Given the description of an element on the screen output the (x, y) to click on. 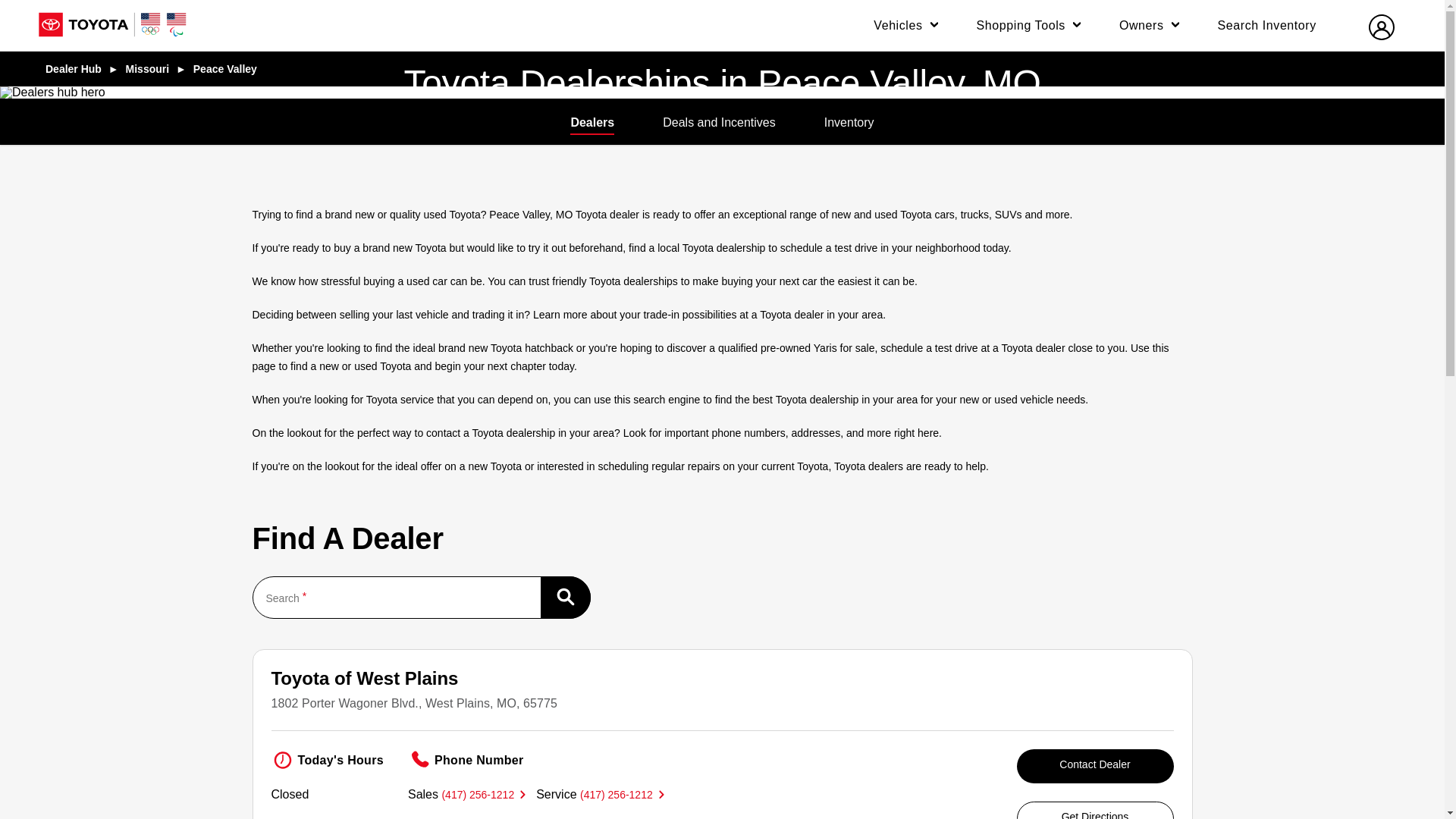
Shopping Tools (1031, 25)
Get Directions (1094, 810)
Contact Dealer (1094, 765)
Inventory (849, 122)
Peace Valley (225, 68)
Vehicles (908, 25)
Owners (1152, 25)
Inventory (849, 122)
Missouri (147, 68)
